Given the description of an element on the screen output the (x, y) to click on. 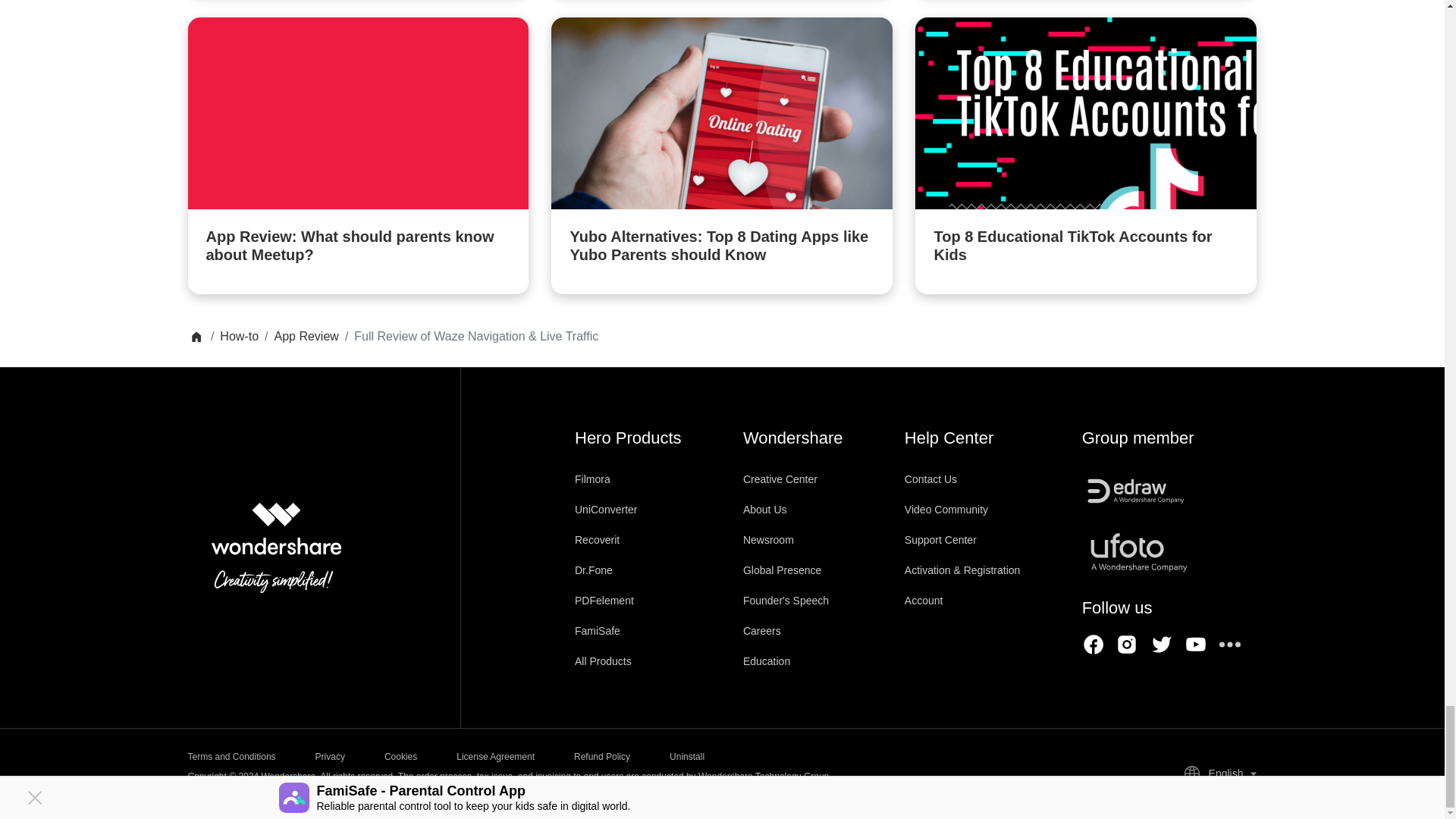
App Review: What should parents know about Meetup? (358, 155)
Top 8 Educational TikTok Accounts for Kids (1085, 155)
